Given the description of an element on the screen output the (x, y) to click on. 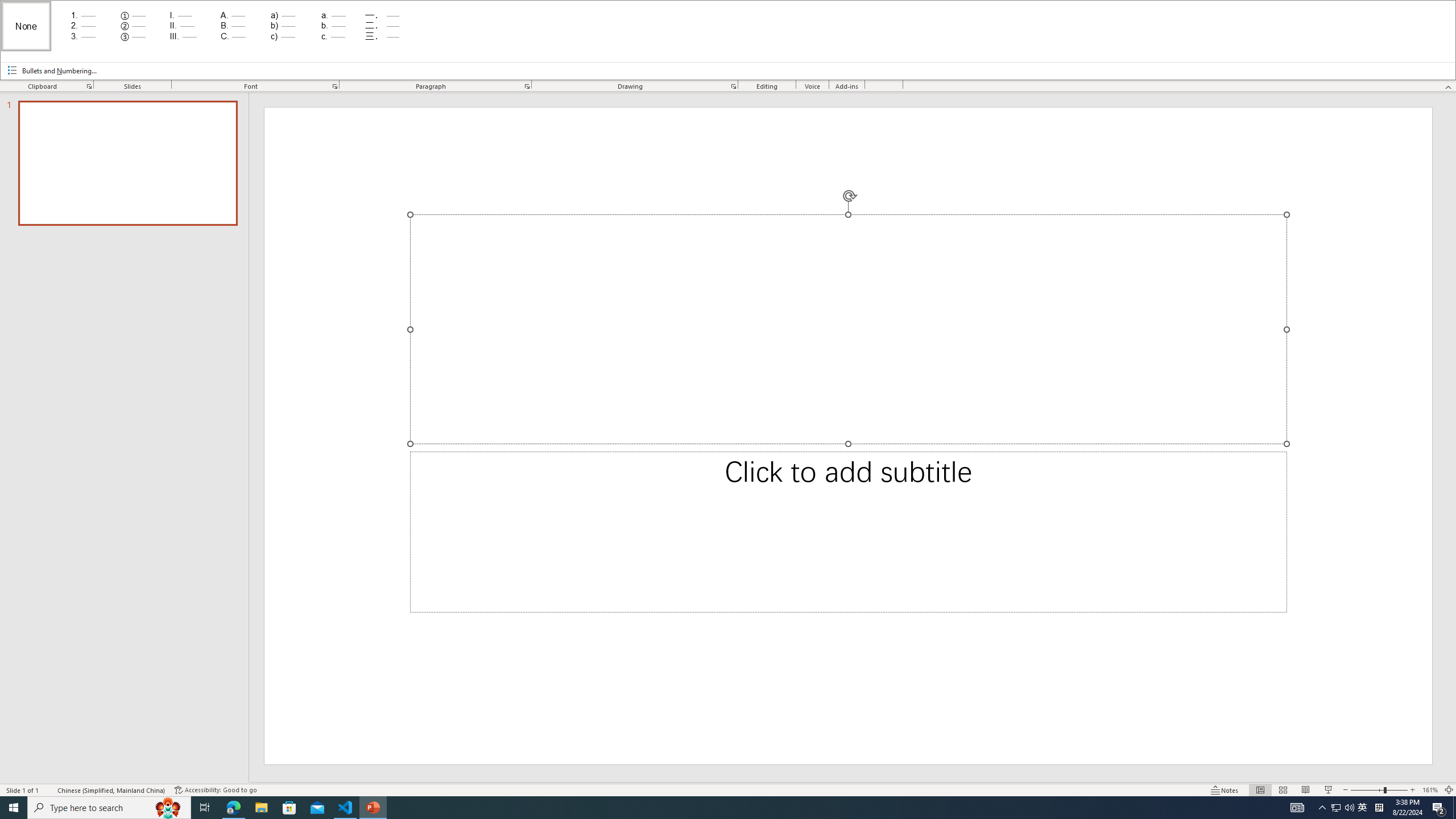
Zoom 161% (1430, 790)
&Numbering (728, 40)
